Given the description of an element on the screen output the (x, y) to click on. 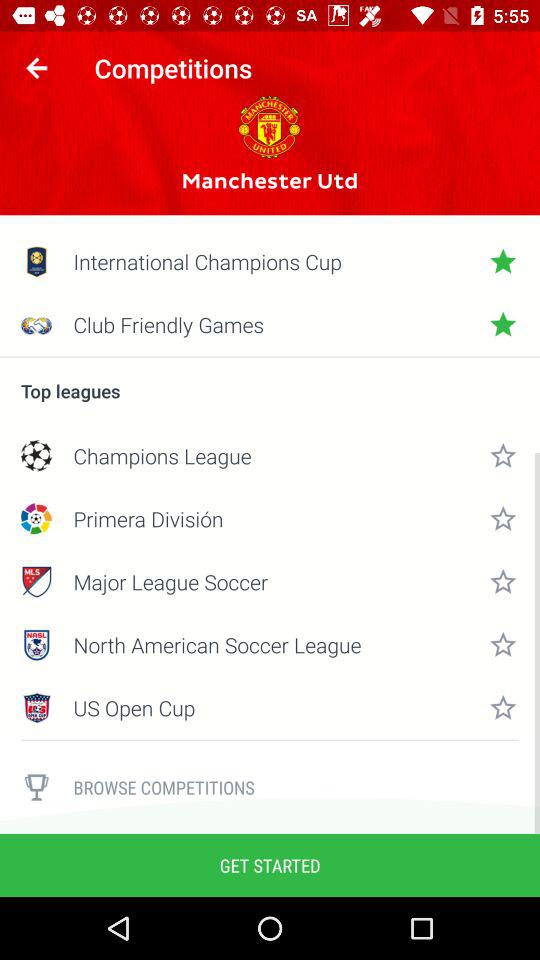
turn off item below top leagues item (269, 455)
